Given the description of an element on the screen output the (x, y) to click on. 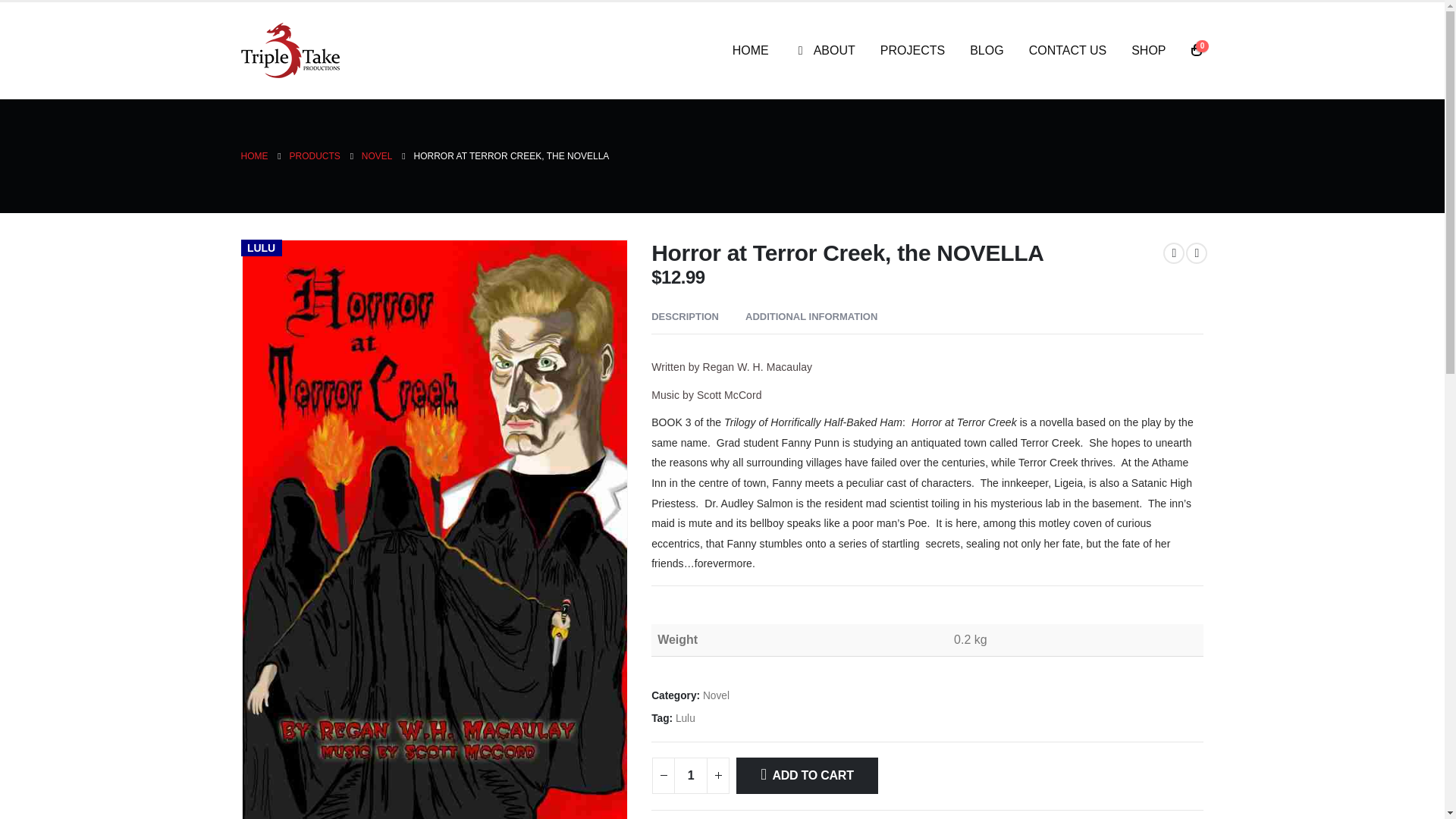
BLOG (986, 49)
Triple Take Productions -  (290, 49)
ABOUT (824, 49)
SHOP (1148, 49)
HOME (750, 49)
Lulu (685, 718)
HOME (254, 156)
CONTACT US (1067, 49)
PROJECTS (911, 49)
Novel (716, 695)
